Given the description of an element on the screen output the (x, y) to click on. 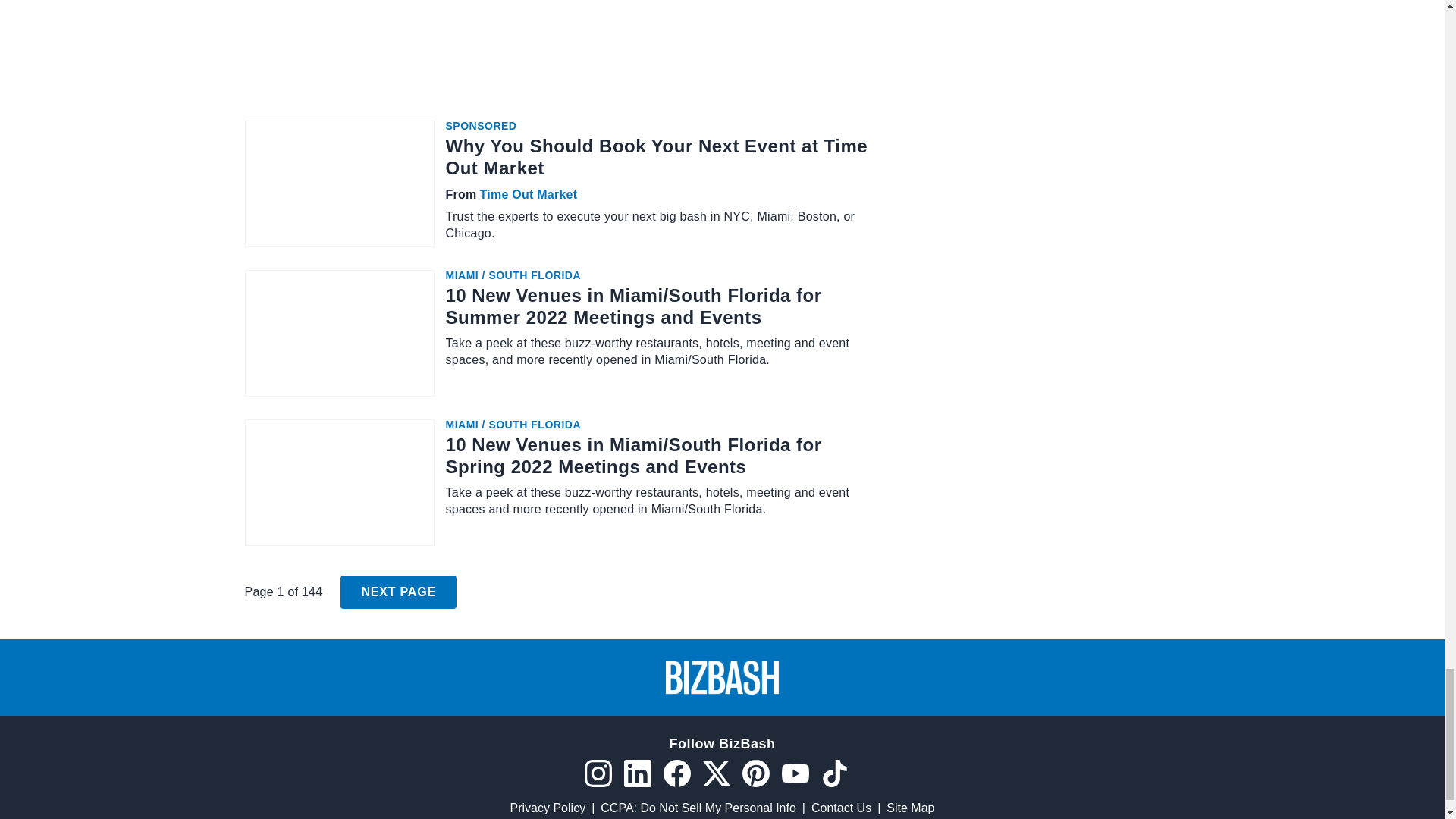
TikTok (834, 773)
LinkedIn icon (636, 773)
YouTube icon (794, 773)
Instagram icon (597, 773)
Pinterest icon (754, 773)
Twitter X icon (715, 773)
Facebook icon (676, 773)
